Given the description of an element on the screen output the (x, y) to click on. 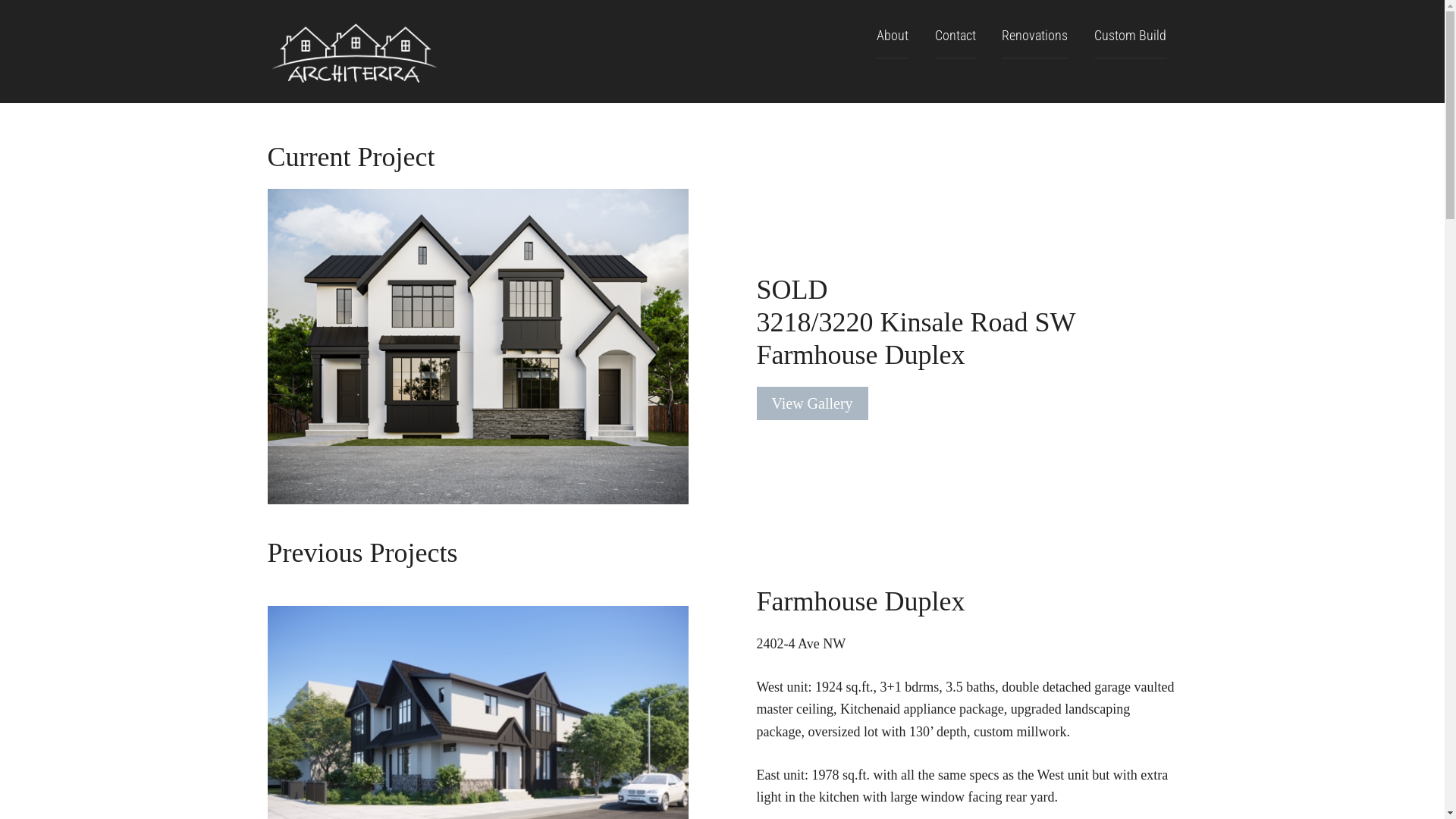
Custom Build Element type: text (1129, 36)
About Element type: text (892, 36)
ARCHITERRA Element type: text (380, 51)
Contact Element type: text (954, 36)
Skip to main content Element type: text (0, 0)
Renovations Element type: text (1034, 36)
View Gallery Element type: text (812, 403)
